Given the description of an element on the screen output the (x, y) to click on. 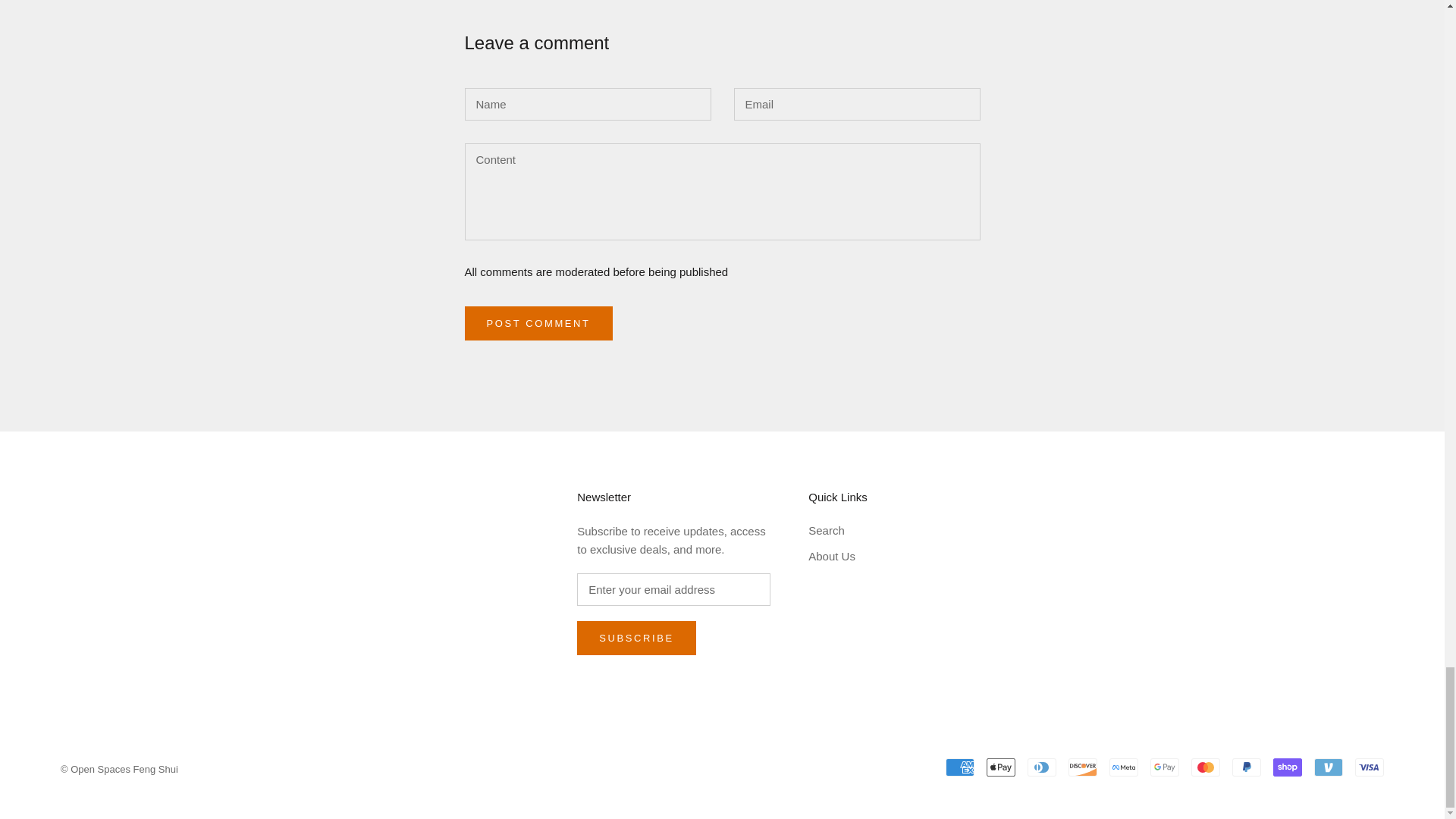
Venmo (1328, 767)
Diners Club (1042, 767)
Search (837, 530)
SUBSCRIBE (635, 637)
PayPal (1245, 767)
POST COMMENT (537, 323)
Google Pay (1164, 767)
Apple Pay (1000, 767)
Shop Pay (1286, 767)
Mastercard (1205, 767)
About Us (837, 556)
Meta Pay (1123, 767)
American Express (959, 767)
Visa (1369, 767)
Discover (1082, 767)
